Given the description of an element on the screen output the (x, y) to click on. 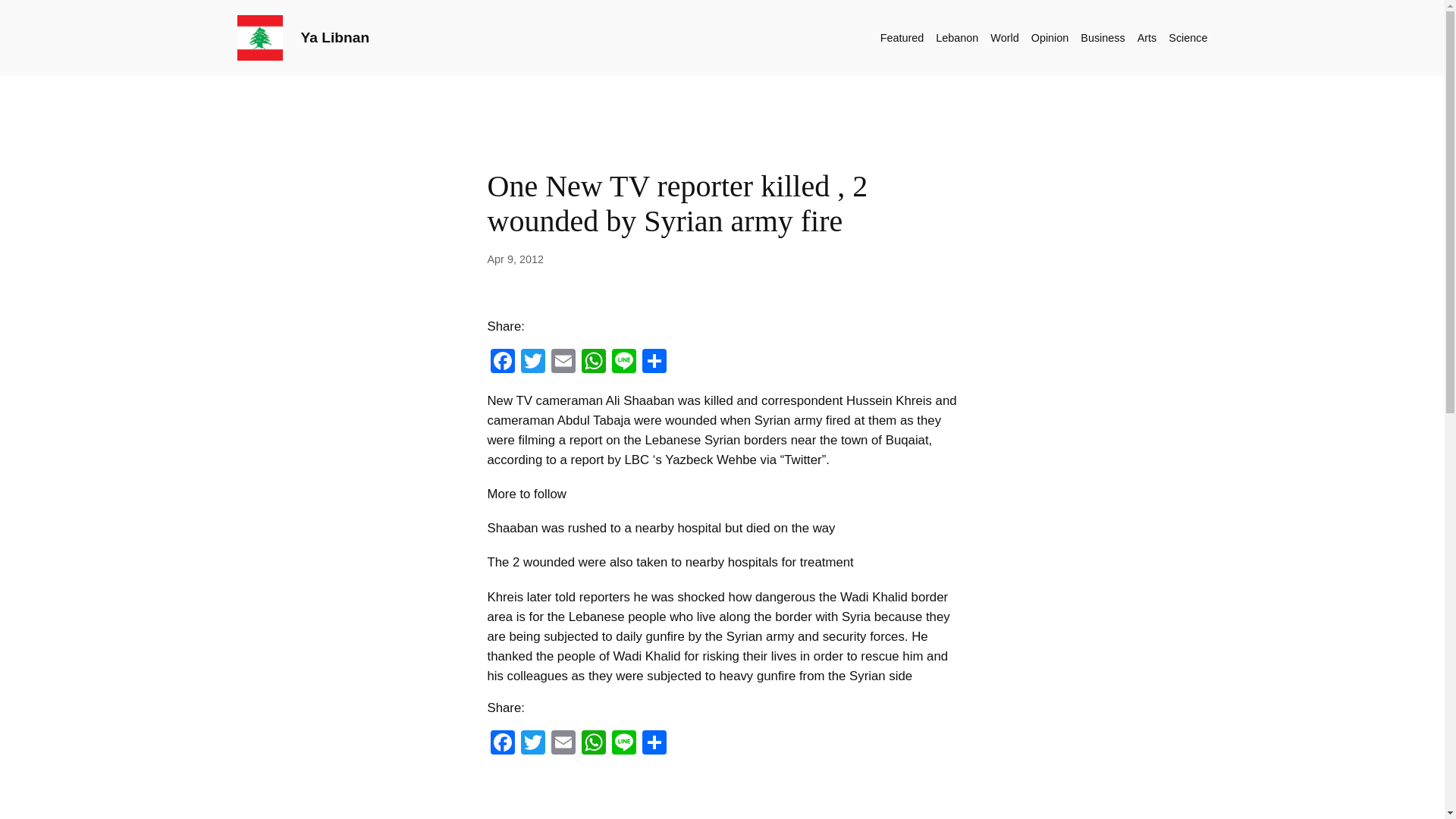
Facebook (501, 362)
Line (623, 362)
Featured (902, 37)
Facebook (501, 744)
WhatsApp (593, 744)
Ya Libnan (334, 37)
Lebanon (957, 37)
Line (623, 744)
Twitter (531, 362)
Share (653, 362)
Facebook (501, 744)
Business (1102, 37)
Email (562, 744)
Line (623, 744)
WhatsApp (593, 362)
